Given the description of an element on the screen output the (x, y) to click on. 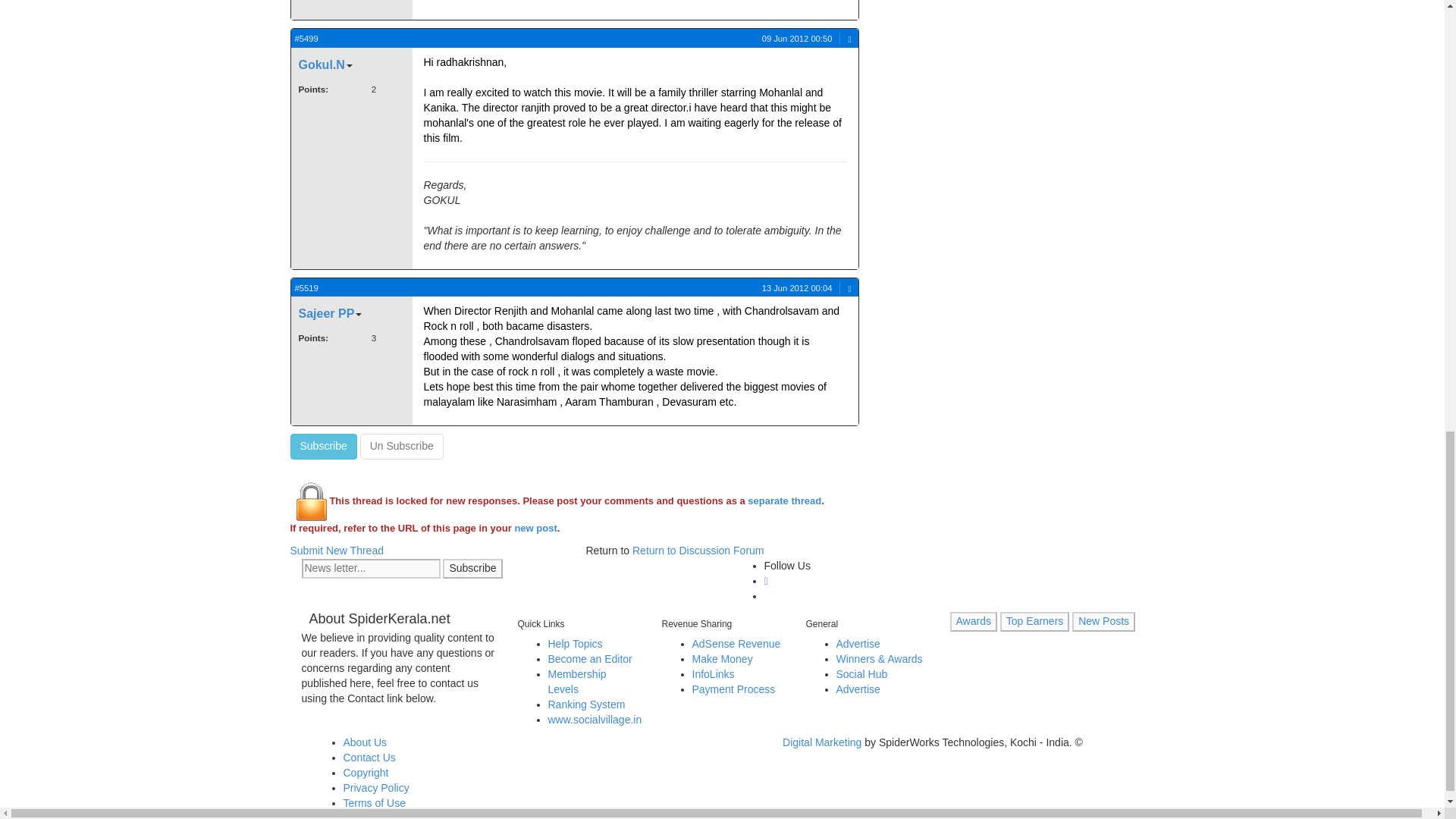
Subscribe (322, 446)
Un Subscribe (401, 446)
